Given the description of an element on the screen output the (x, y) to click on. 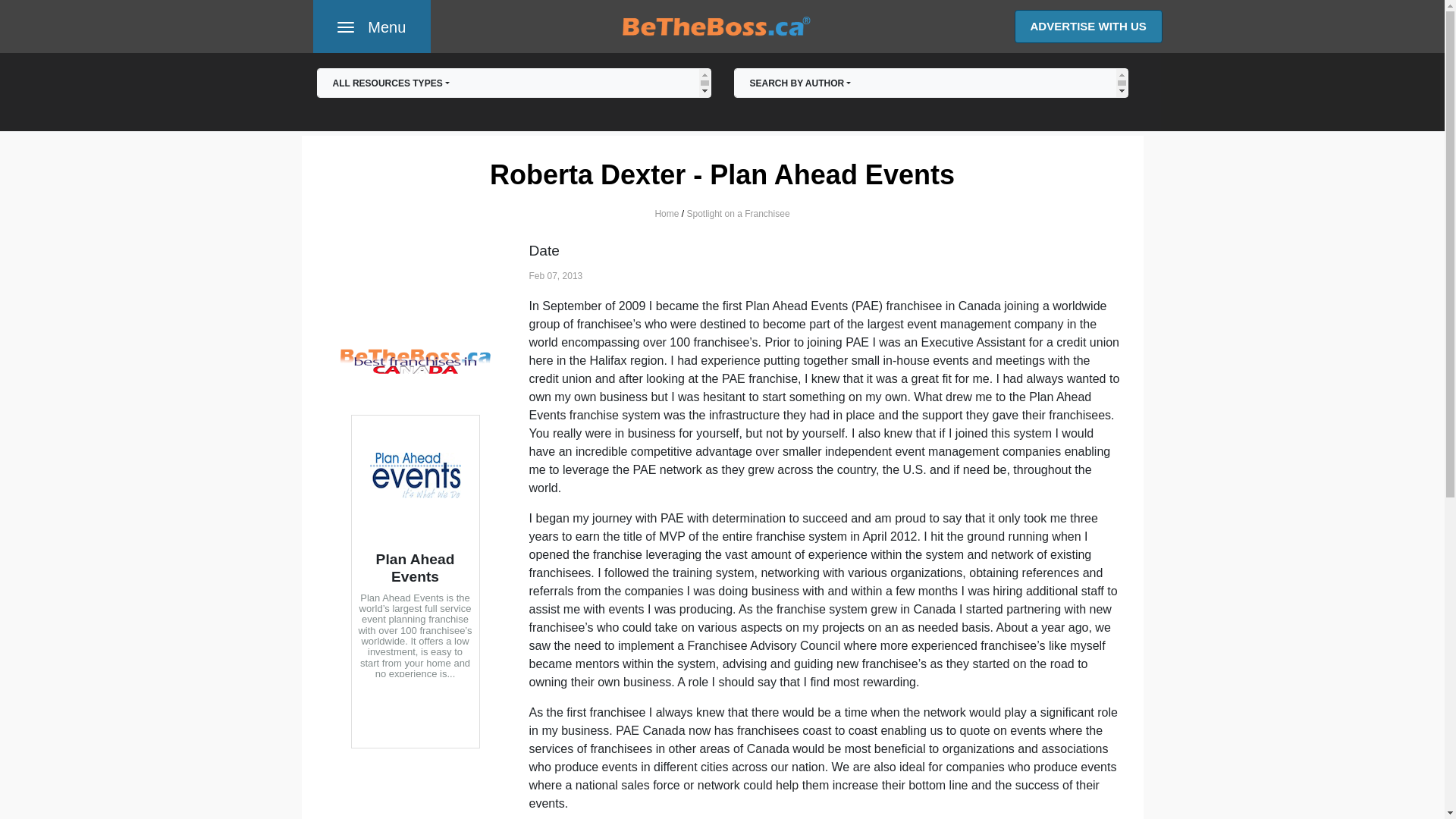
ADVERTISE WITH US (513, 91)
